Given the description of an element on the screen output the (x, y) to click on. 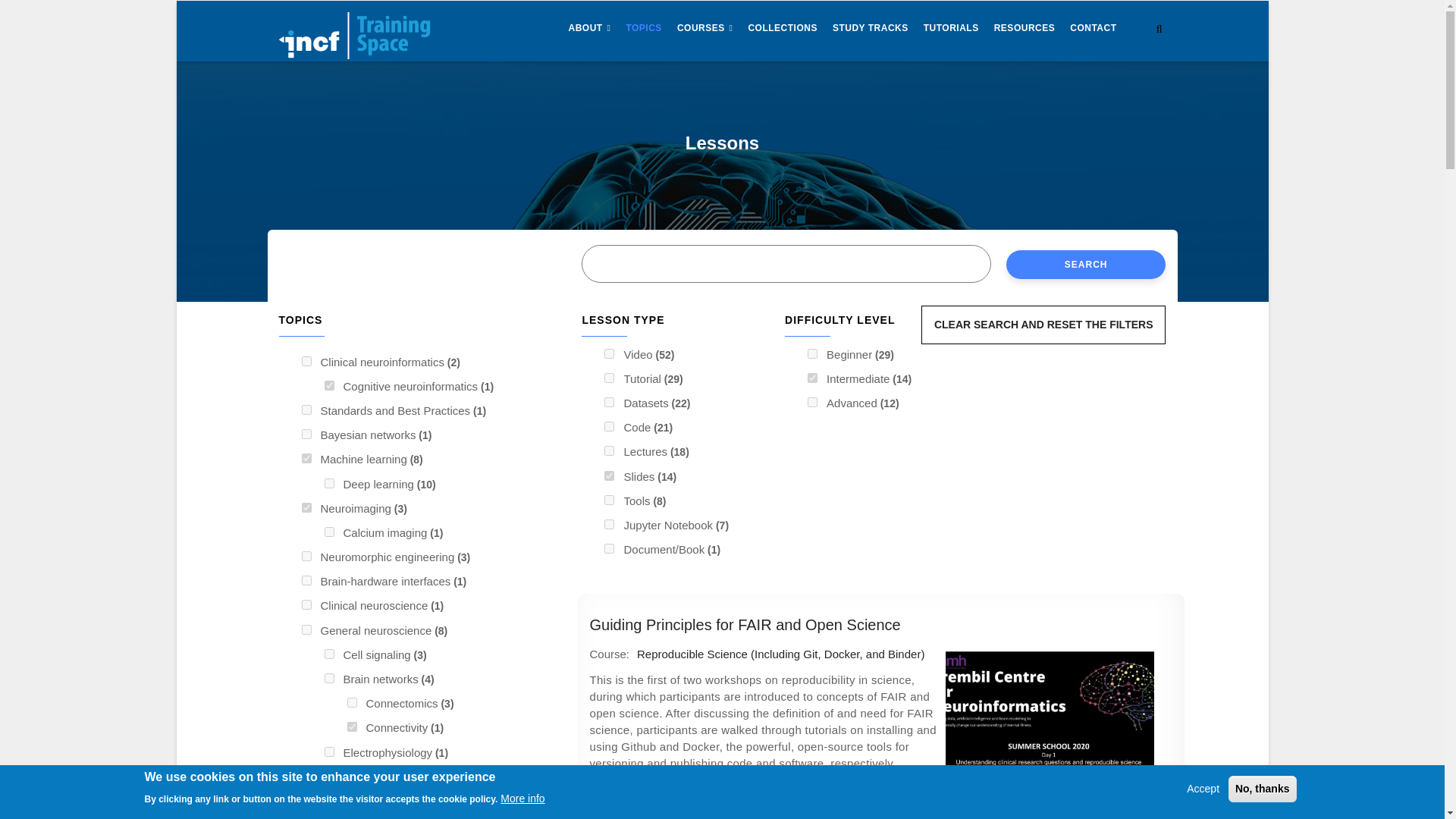
on (812, 378)
on (329, 385)
Erin Dickie and Sejal Patel (691, 814)
Home (354, 30)
on (609, 378)
on (812, 402)
TUTORIALS (951, 28)
on (812, 353)
on (609, 548)
Guiding Principles for FAIR and Open Science (744, 624)
STUDY TRACKS (870, 28)
TOPICS (642, 28)
COLLECTIONS (782, 28)
on (306, 458)
COURSES (705, 28)
